Given the description of an element on the screen output the (x, y) to click on. 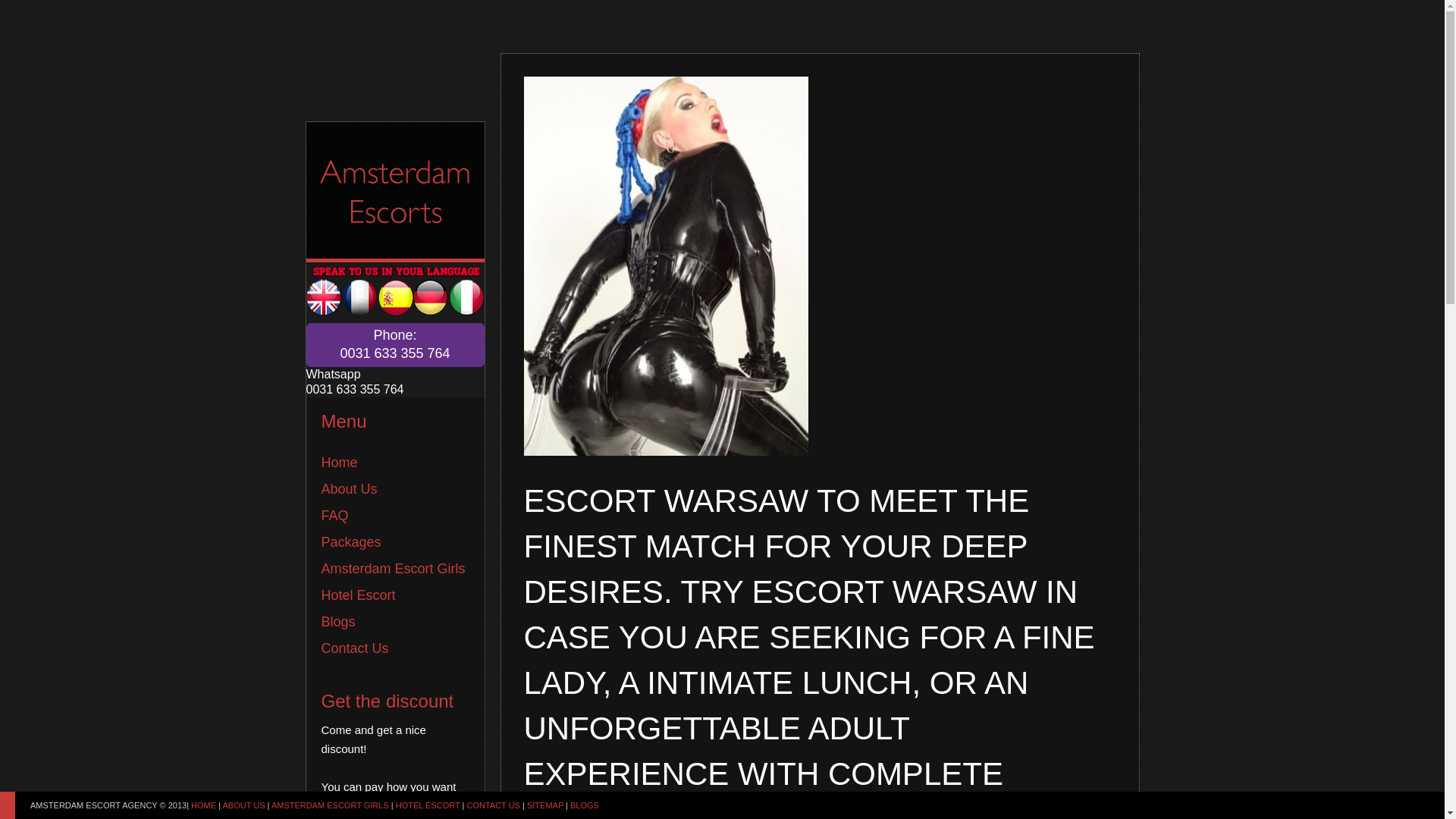
ABOUT US (243, 804)
Amsterdam Escort Girls (393, 568)
Hotel Escort (338, 621)
Contact Us (394, 344)
Call NOW! (354, 648)
Partners (394, 344)
HOME (584, 804)
FAQ (202, 804)
Sitemap (335, 515)
